Given the description of an element on the screen output the (x, y) to click on. 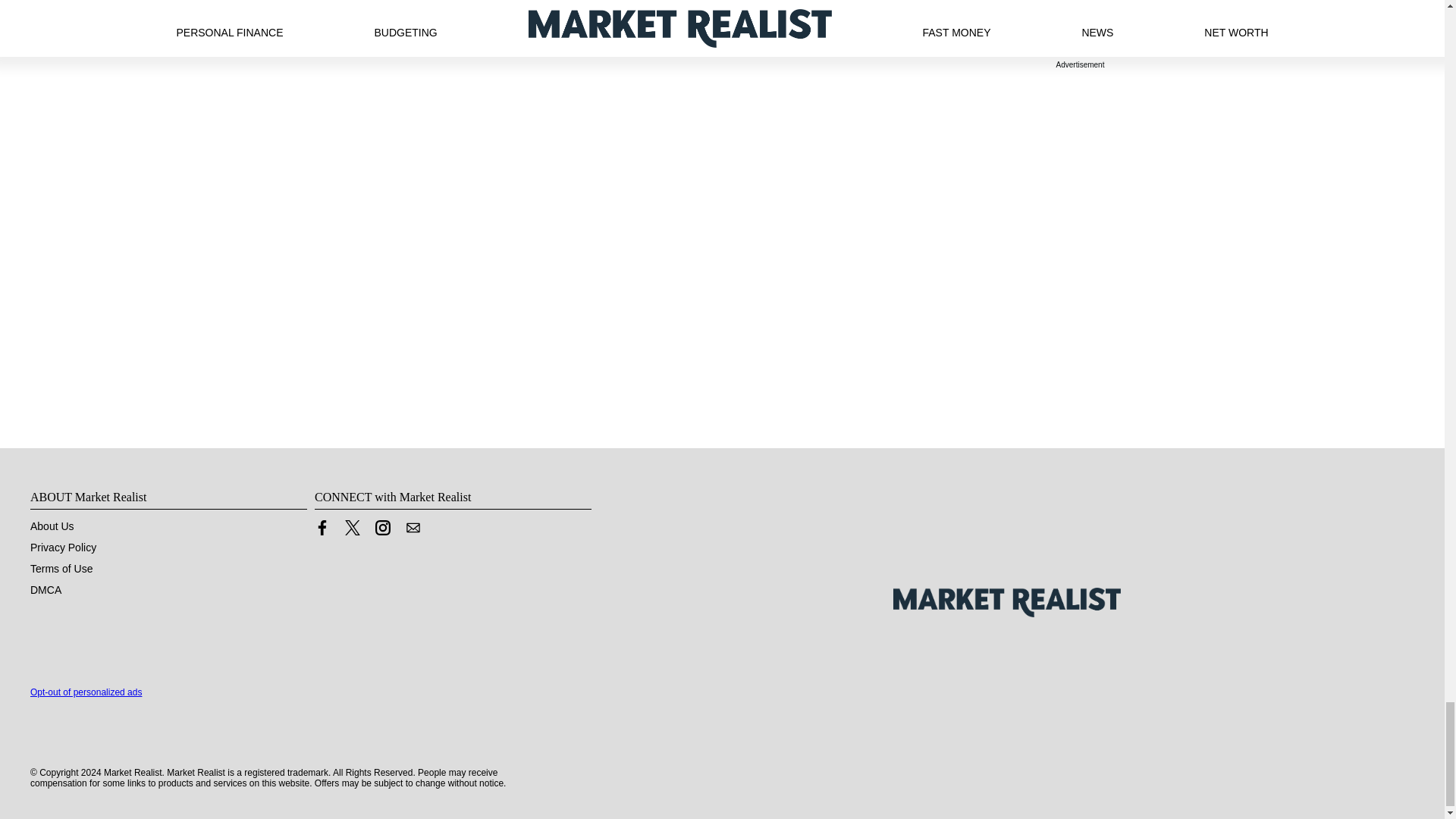
About Us (52, 526)
Contact us by Email (413, 531)
Contact us by Email (413, 527)
Terms of Use (61, 568)
Terms of Use (61, 568)
Privacy Policy (63, 547)
Link to Instagram (382, 531)
Link to X (352, 531)
Link to Facebook (322, 527)
Link to Instagram (382, 527)
